Given the description of an element on the screen output the (x, y) to click on. 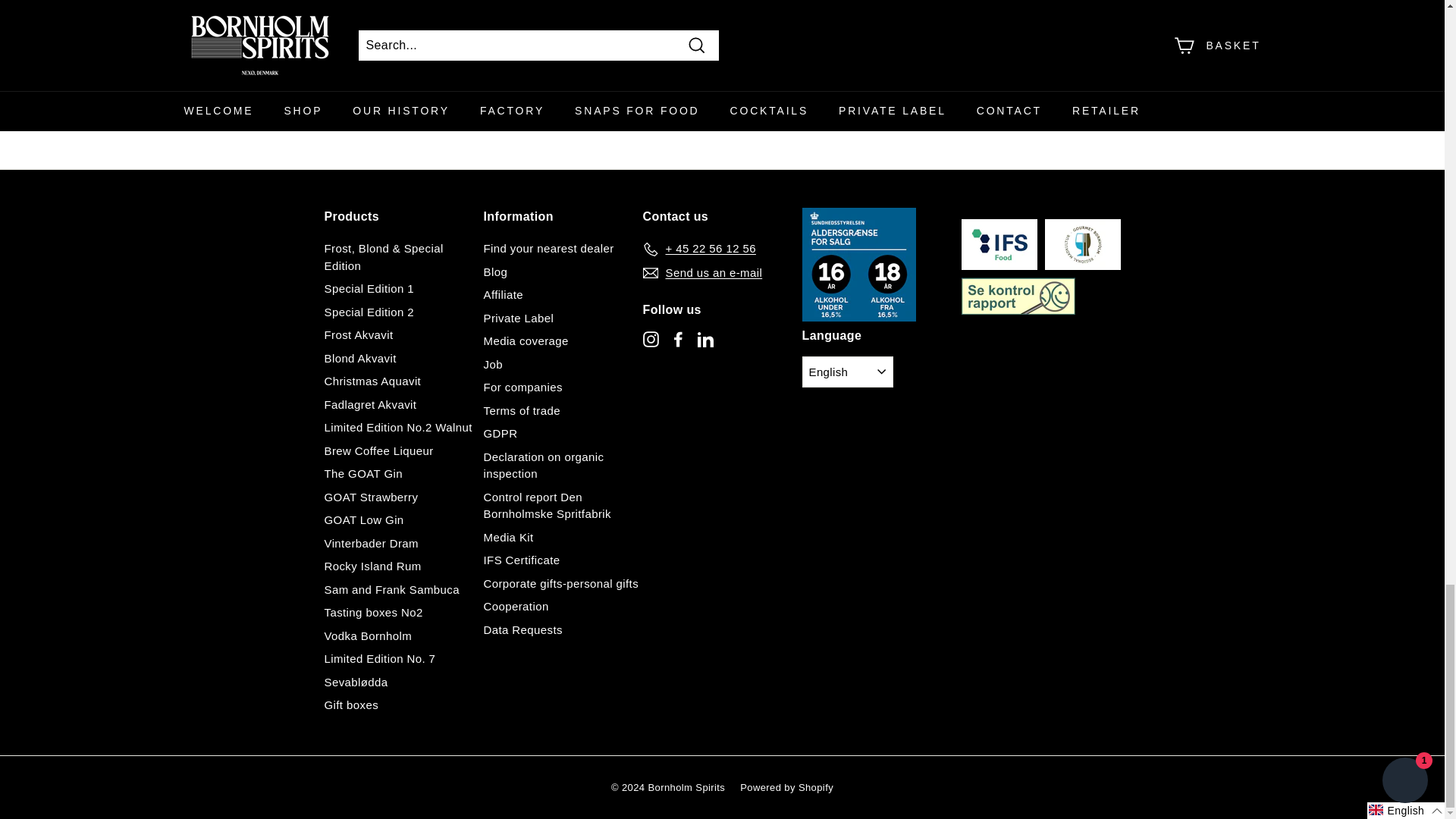
Bornholm Spirits on Instagram (651, 339)
Bornholm Spirits on LinkedIn (705, 339)
Bornholm Spirits on Facebook (677, 339)
